Given the description of an element on the screen output the (x, y) to click on. 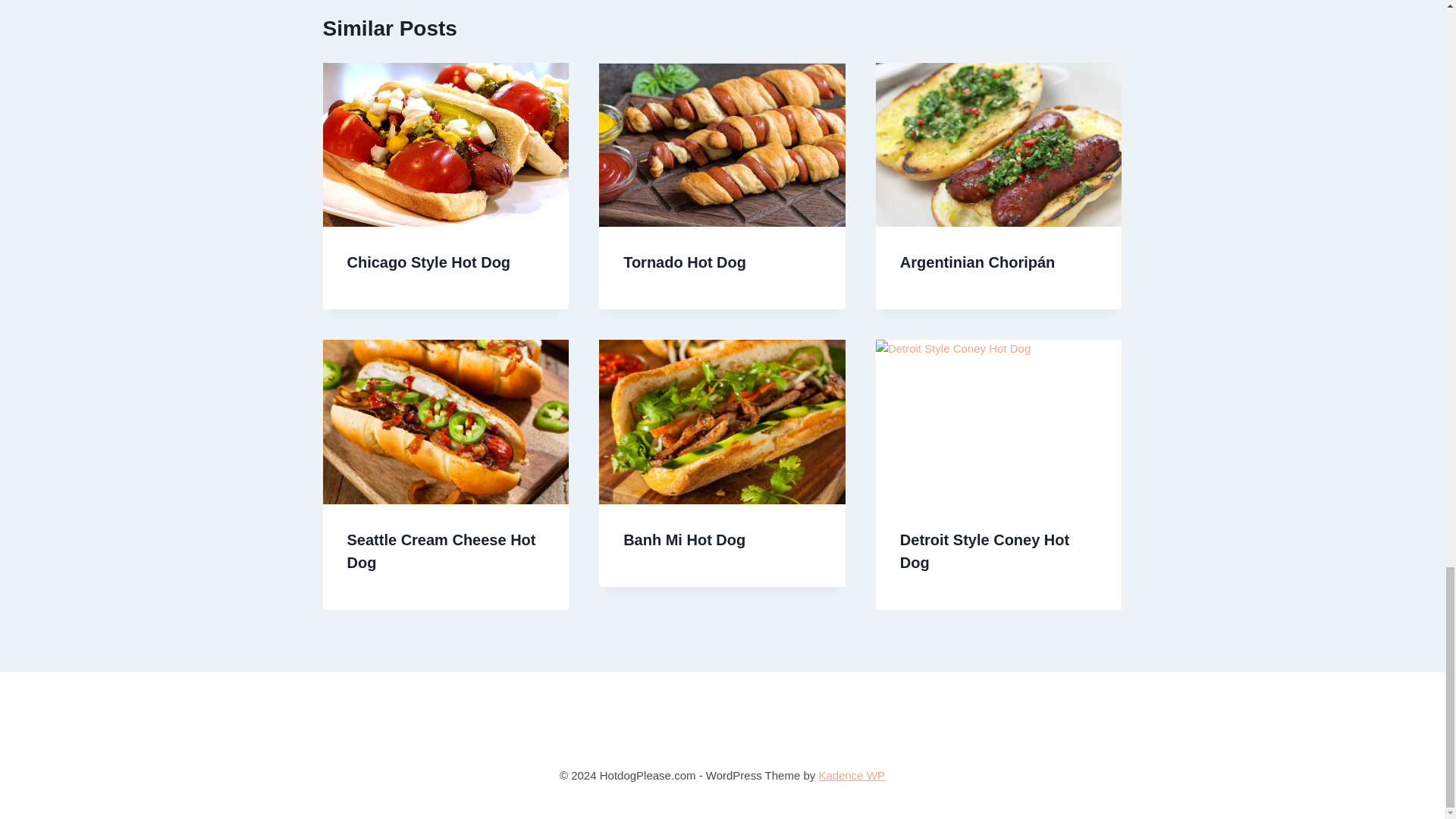
Detroit Style Coney Hot Dog (983, 550)
Seattle Cream Cheese Hot Dog (441, 550)
Tornado Hot Dog (684, 262)
Kadence WP (851, 775)
Chicago Style Hot Dog (429, 262)
Banh Mi Hot Dog (684, 539)
